Given the description of an element on the screen output the (x, y) to click on. 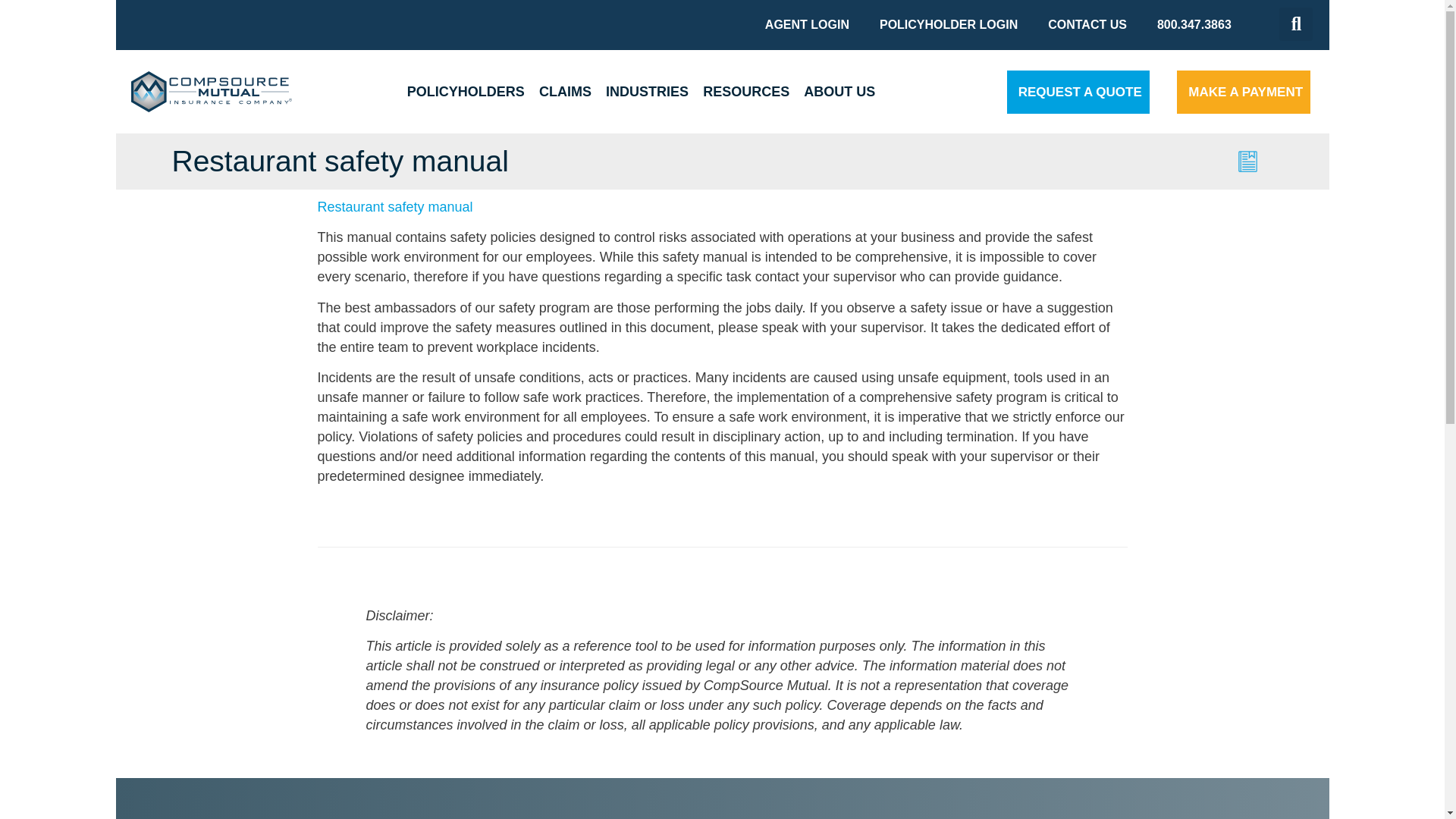
AGENT LOGIN (806, 24)
POLICYHOLDER LOGIN (948, 24)
INDUSTRIES (647, 91)
POLICYHOLDERS (465, 91)
CONTACT US (1086, 24)
